Given the description of an element on the screen output the (x, y) to click on. 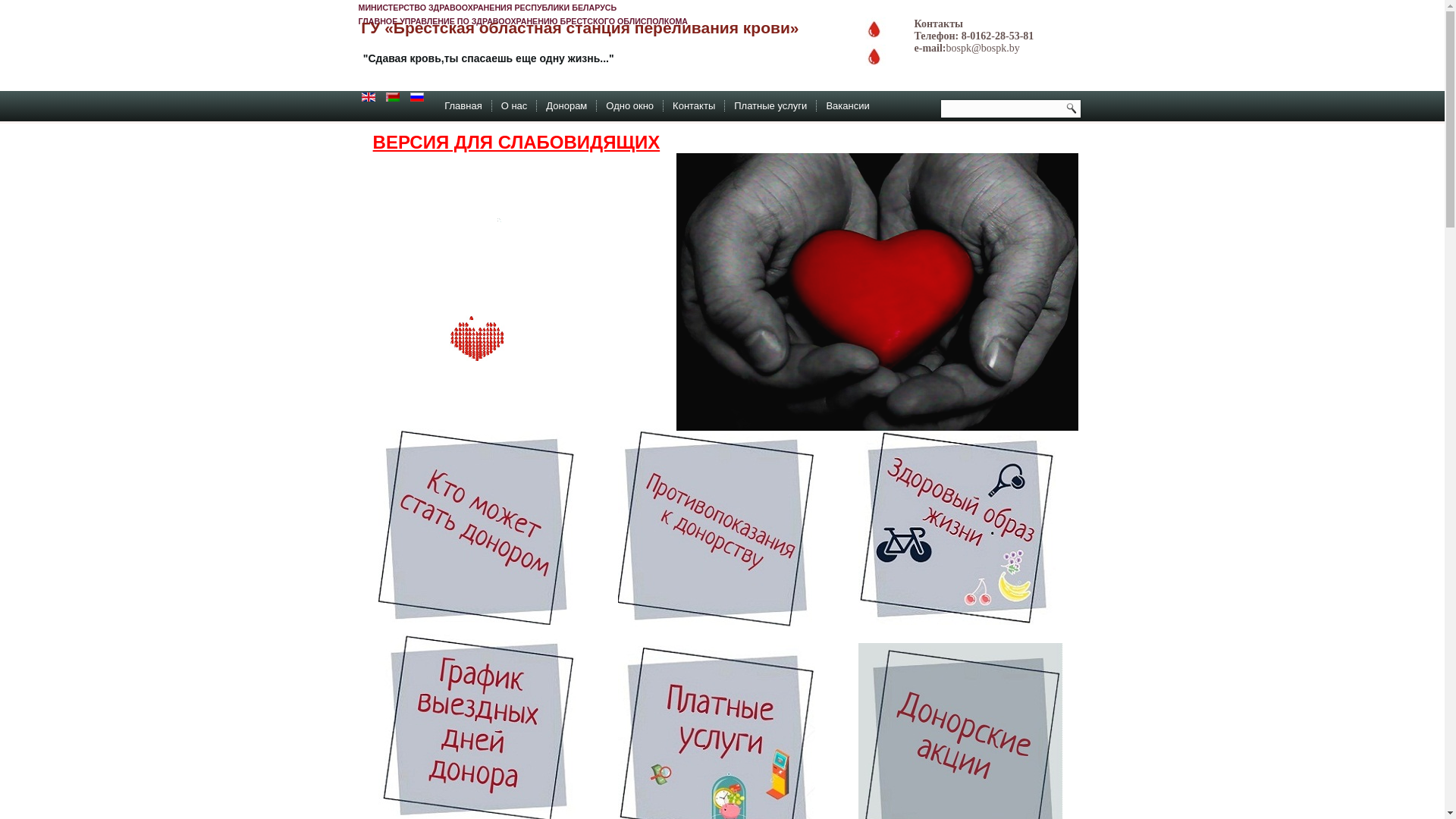
English (en-GB) Element type: hover (368, 96)
Belarusian (be-BY) Element type: hover (392, 96)
